Given the description of an element on the screen output the (x, y) to click on. 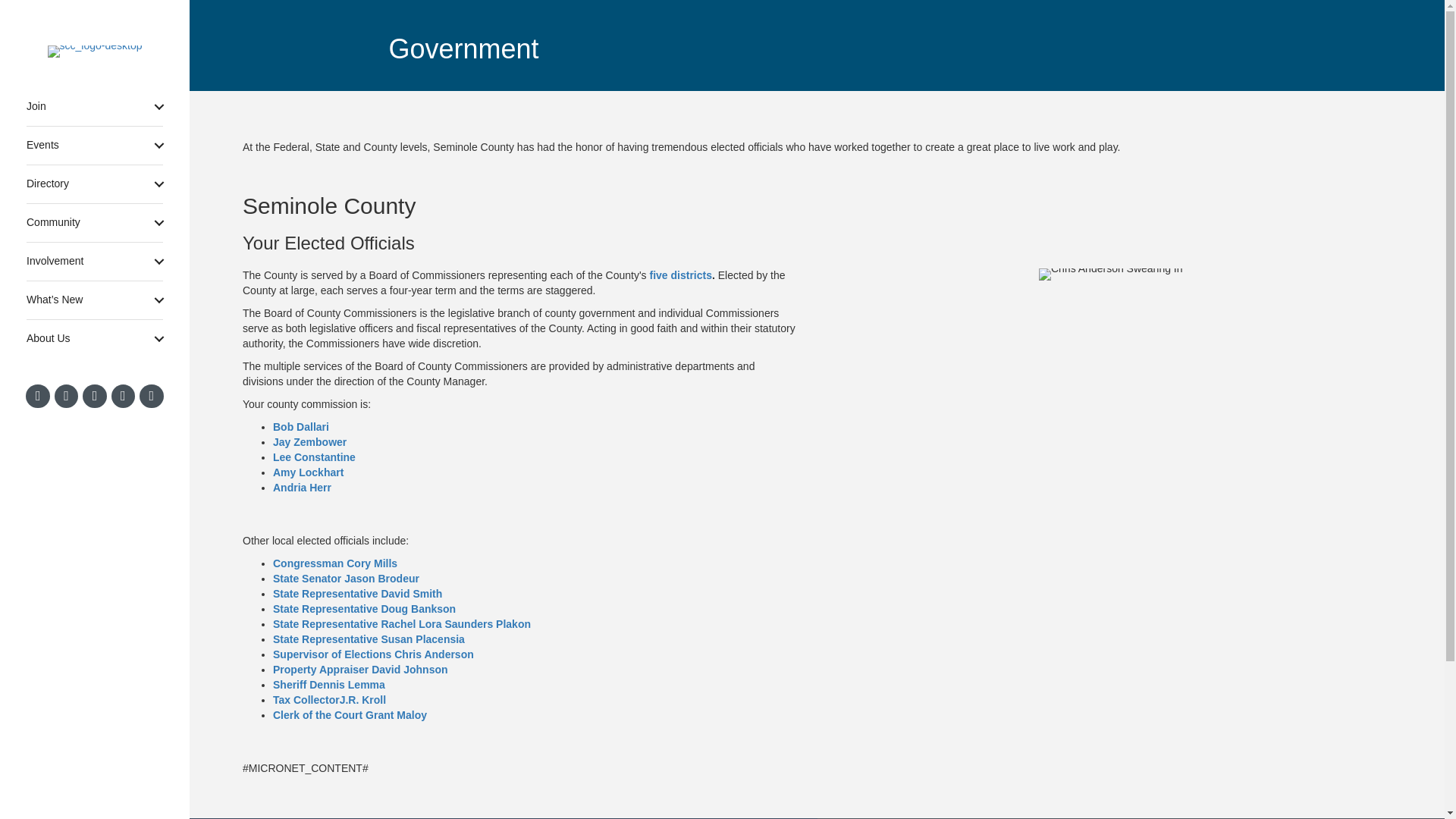
Events (94, 145)
Involvement (94, 261)
Join (94, 106)
Directory (94, 184)
Community (94, 222)
